Given the description of an element on the screen output the (x, y) to click on. 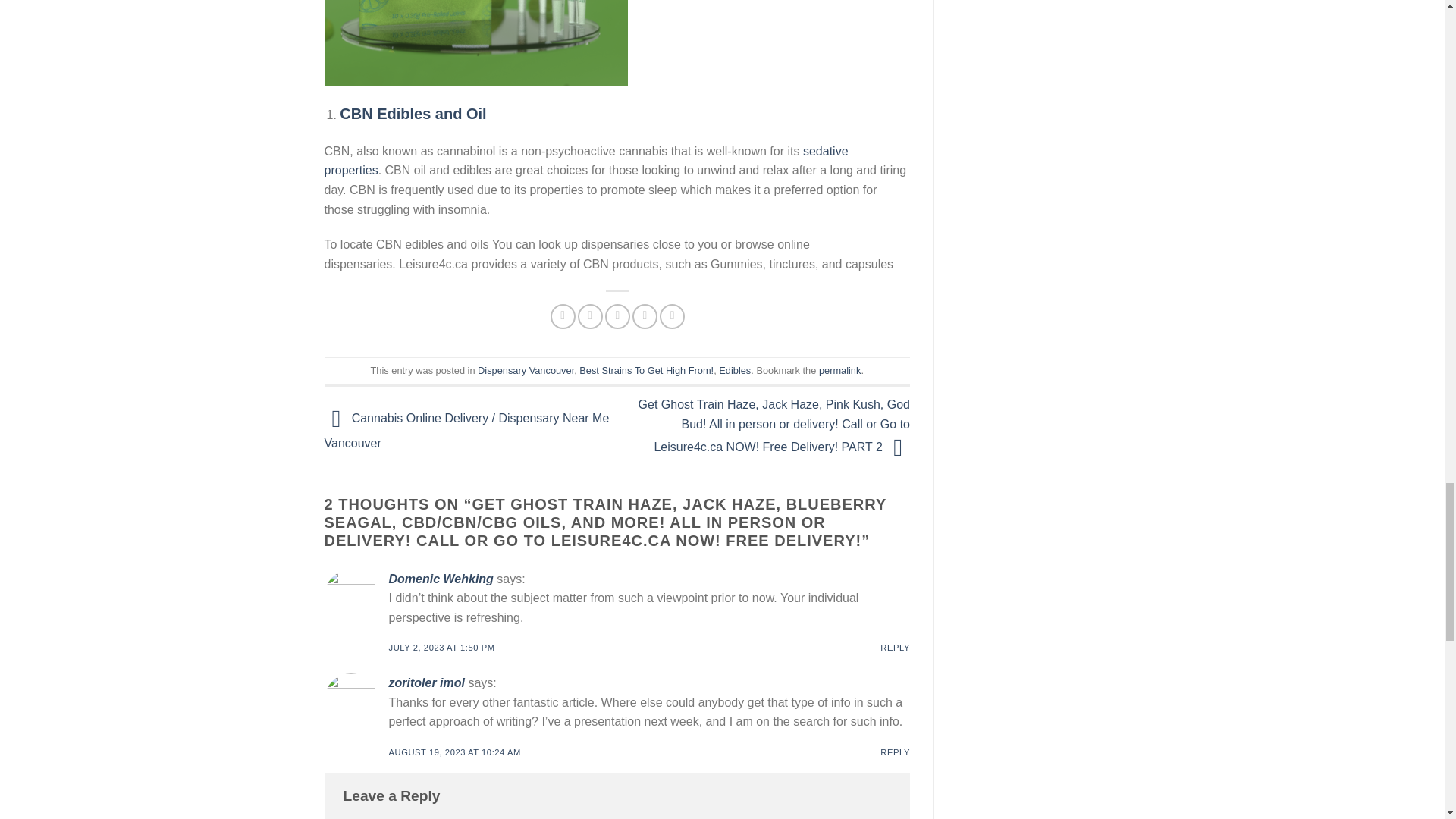
Edibles (735, 369)
Pin on Pinterest (644, 316)
Best Strains To Get High From! (646, 369)
CBN Edibles and Oil (412, 113)
Dispensary Vancouver (525, 369)
Share on LinkedIn (671, 316)
sedative properties (586, 160)
Share on Facebook (562, 316)
Email to a Friend (617, 316)
Share on Twitter (590, 316)
